Given the description of an element on the screen output the (x, y) to click on. 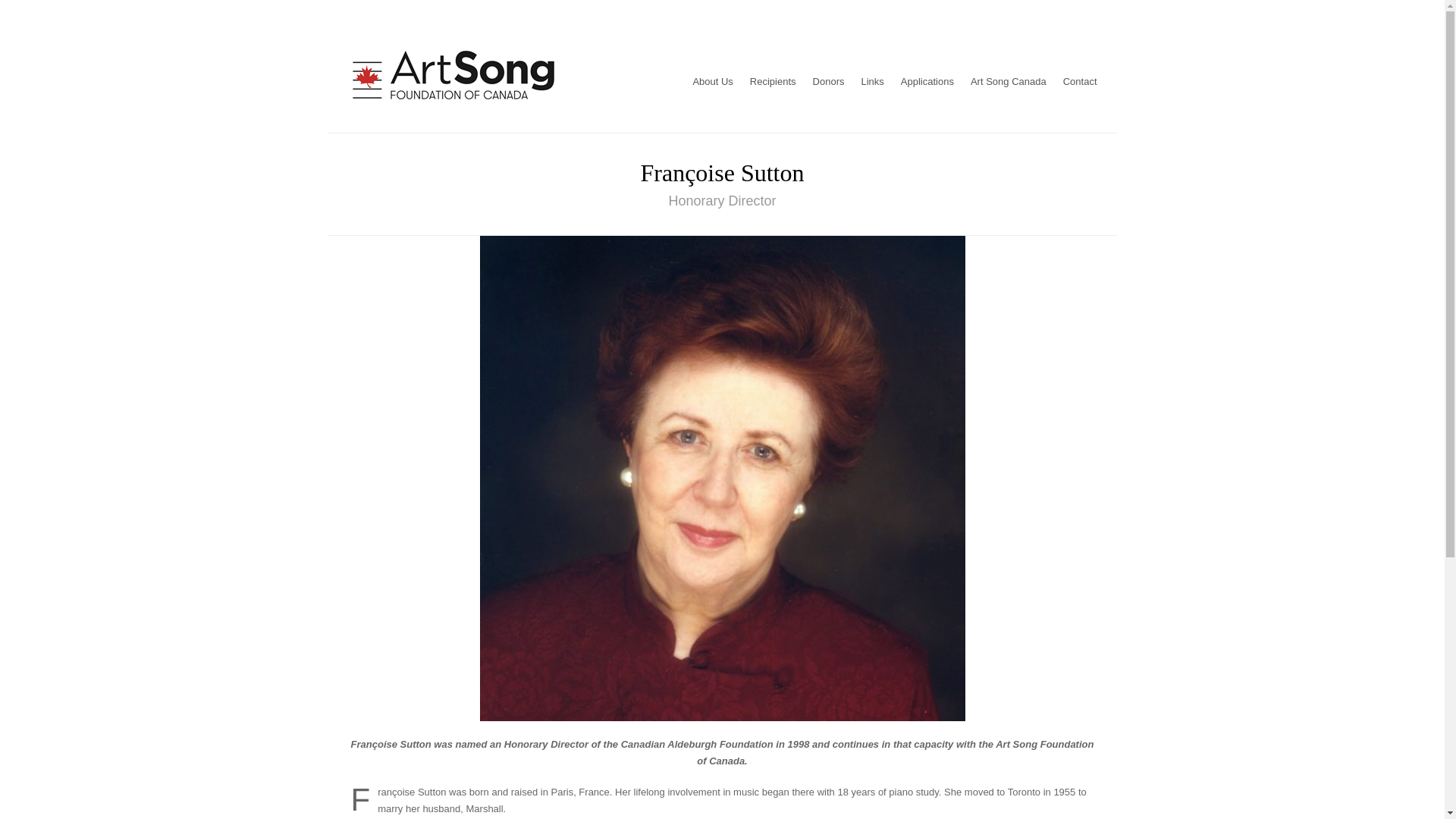
Links (871, 80)
Art Song Canada (1008, 80)
Contact (1079, 80)
About Us (712, 80)
Recipients (773, 80)
Applications (927, 80)
Donors (829, 80)
